Given the description of an element on the screen output the (x, y) to click on. 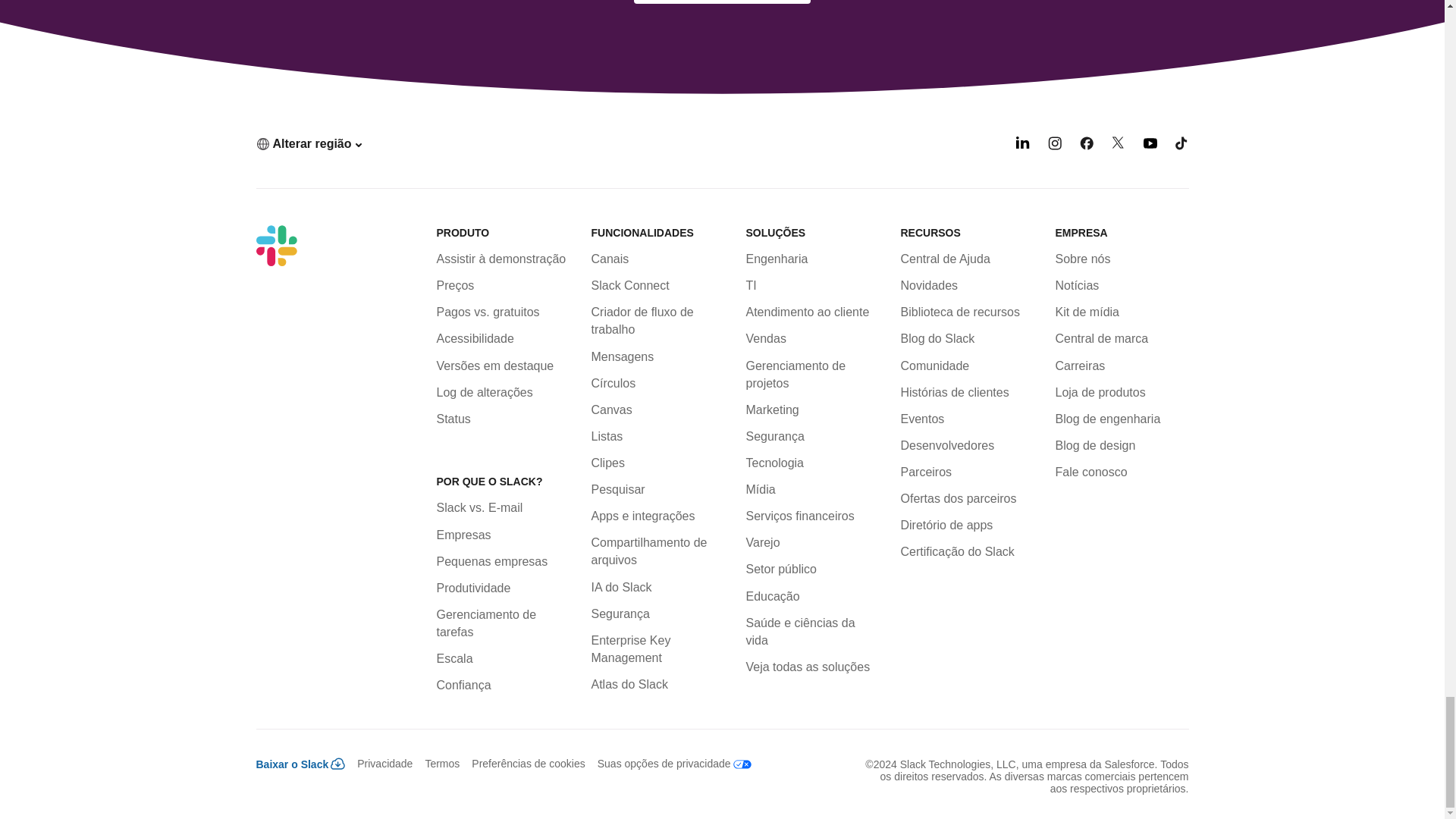
Facebook (1086, 145)
Slack (276, 245)
YouTube (1149, 145)
LinkedIn (1022, 145)
X (1118, 145)
Instagram (1054, 145)
TikTok (1181, 145)
